Given the description of an element on the screen output the (x, y) to click on. 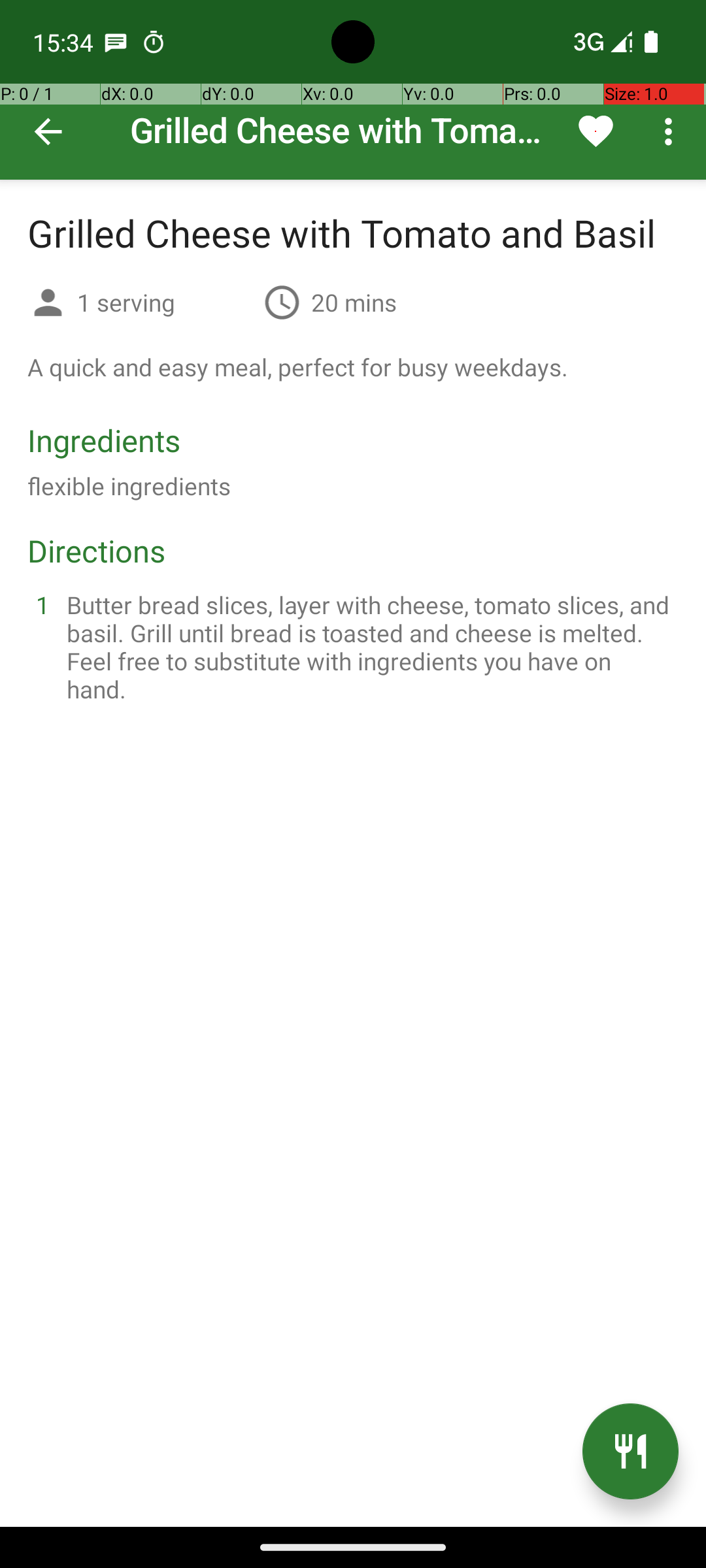
Butter bread slices, layer with cheese, tomato slices, and basil. Grill until bread is toasted and cheese is melted. Feel free to substitute with ingredients you have on hand. Element type: android.widget.TextView (368, 646)
